Given the description of an element on the screen output the (x, y) to click on. 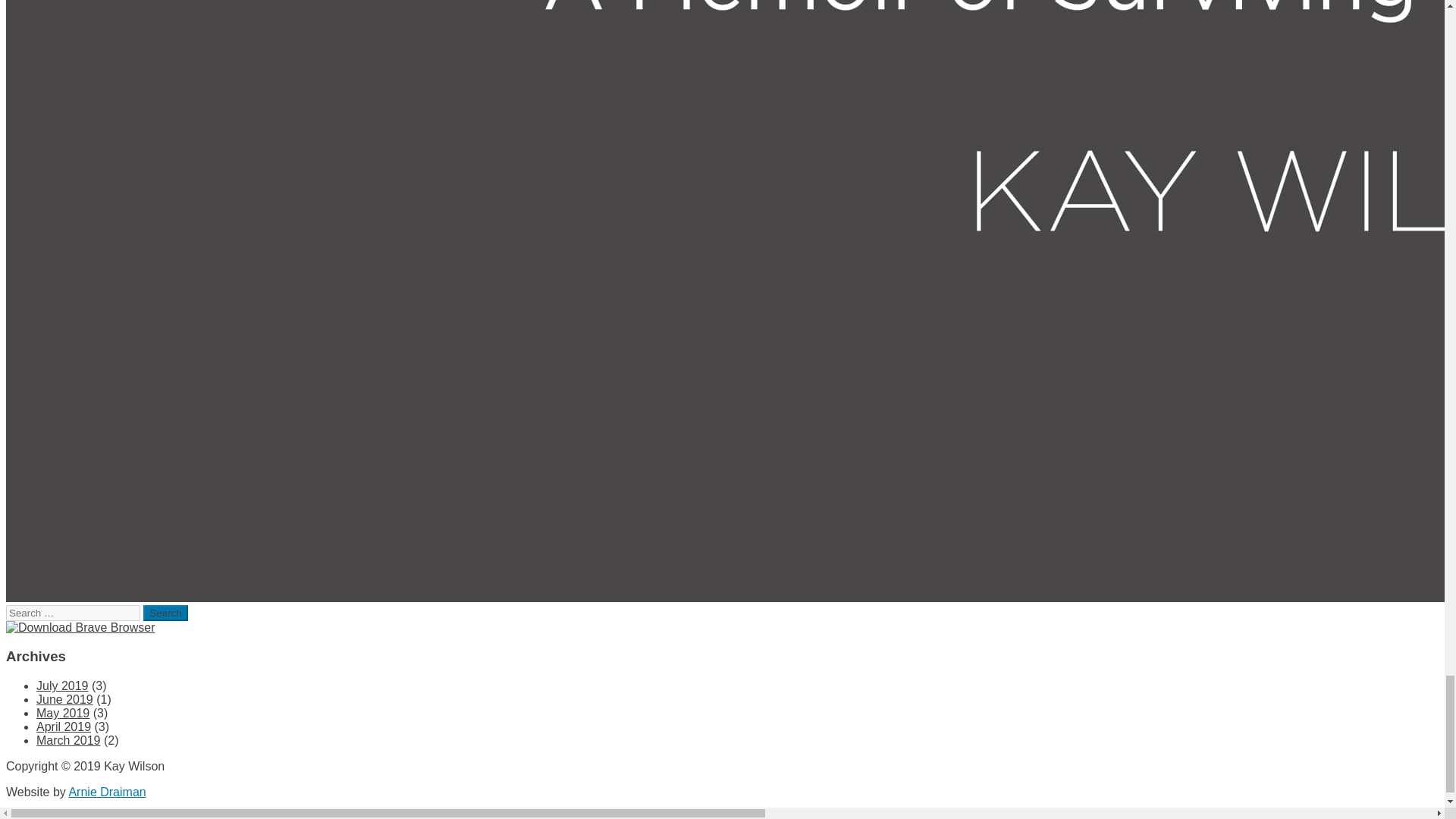
Search (164, 612)
Search (164, 612)
Search (164, 612)
